Given the description of an element on the screen output the (x, y) to click on. 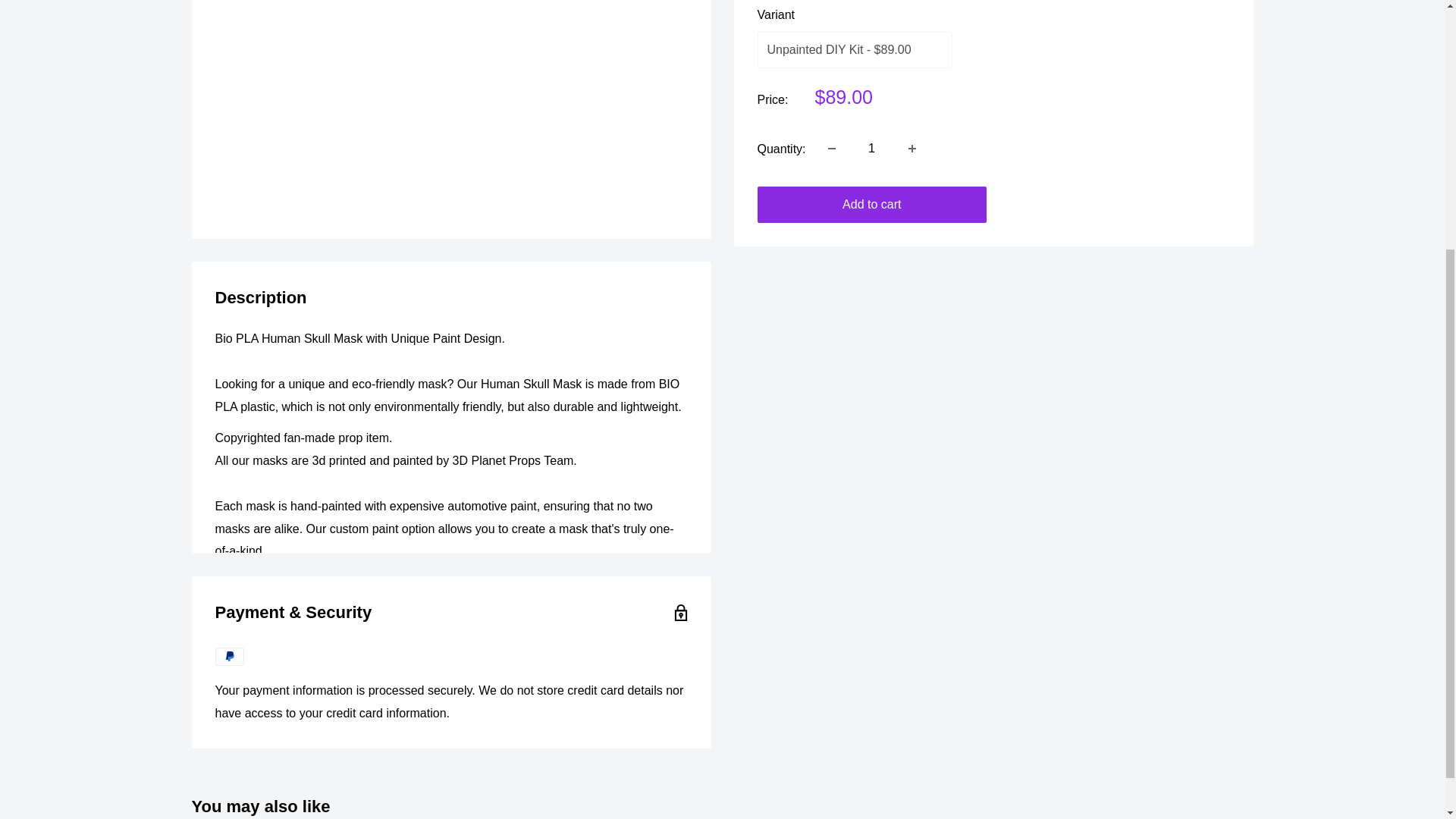
1 (871, 148)
Increase quantity by 1 (912, 148)
Decrease quantity by 1 (831, 148)
